Given the description of an element on the screen output the (x, y) to click on. 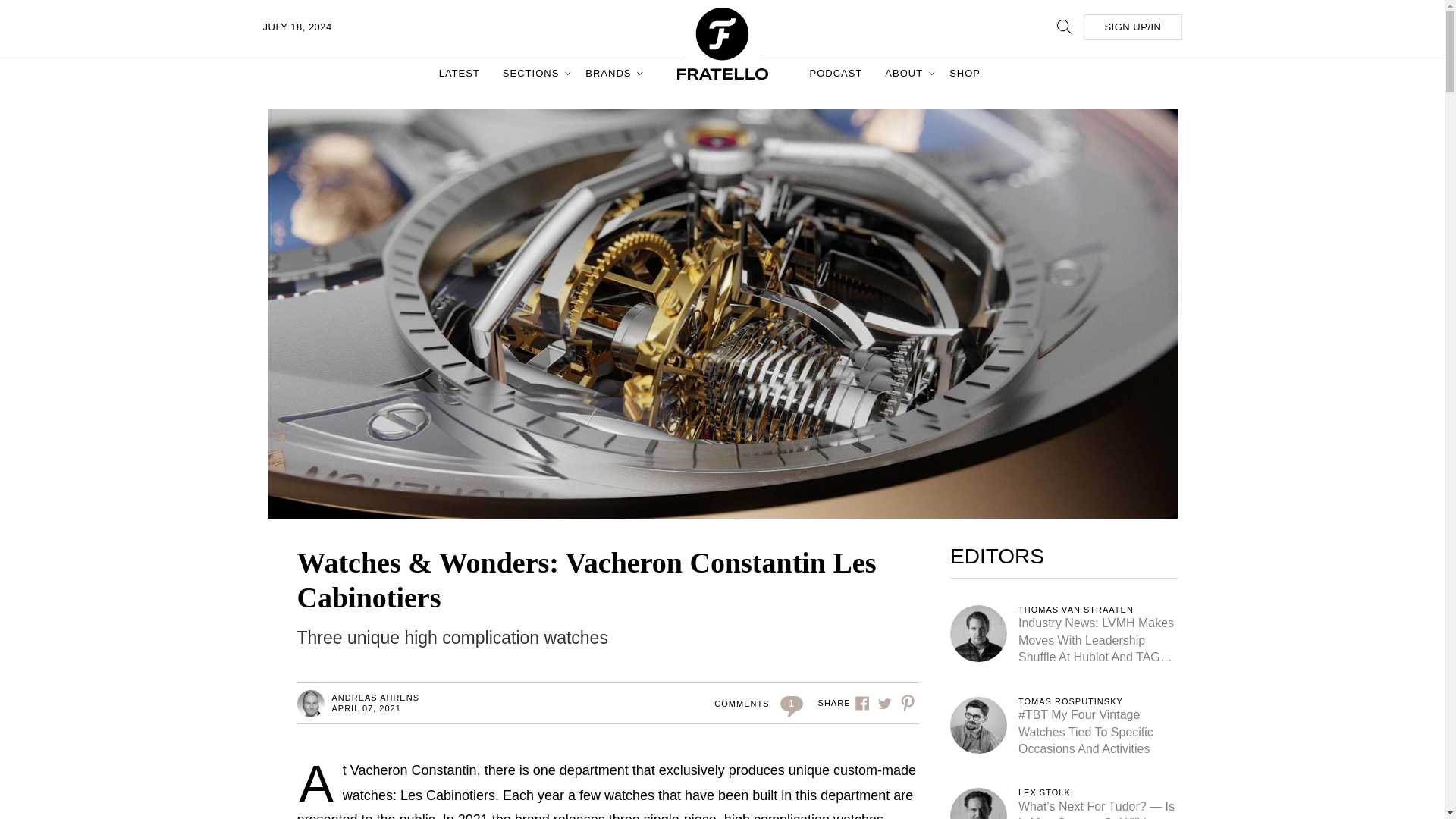
SECTIONS (532, 72)
BRANDS (609, 72)
LATEST (460, 72)
